Given the description of an element on the screen output the (x, y) to click on. 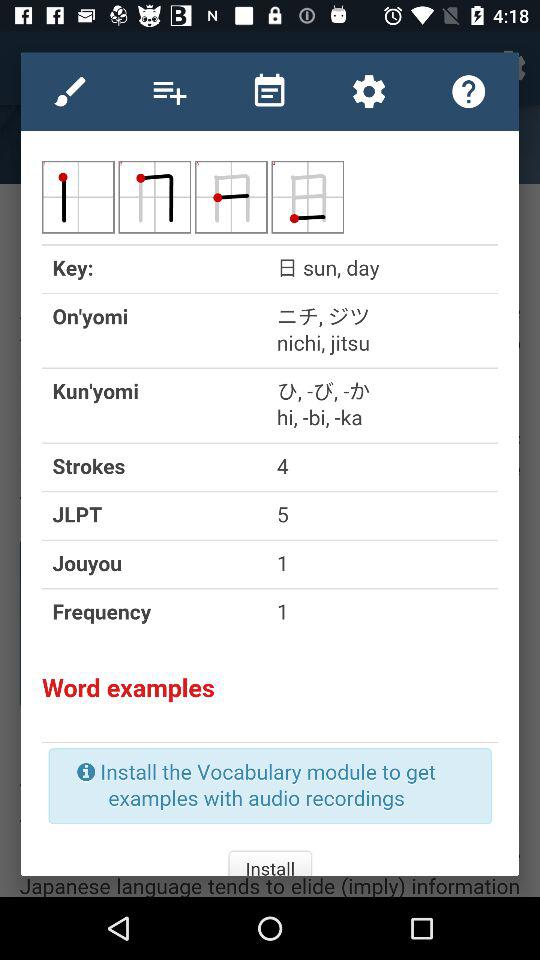
go to painting (70, 91)
